Given the description of an element on the screen output the (x, y) to click on. 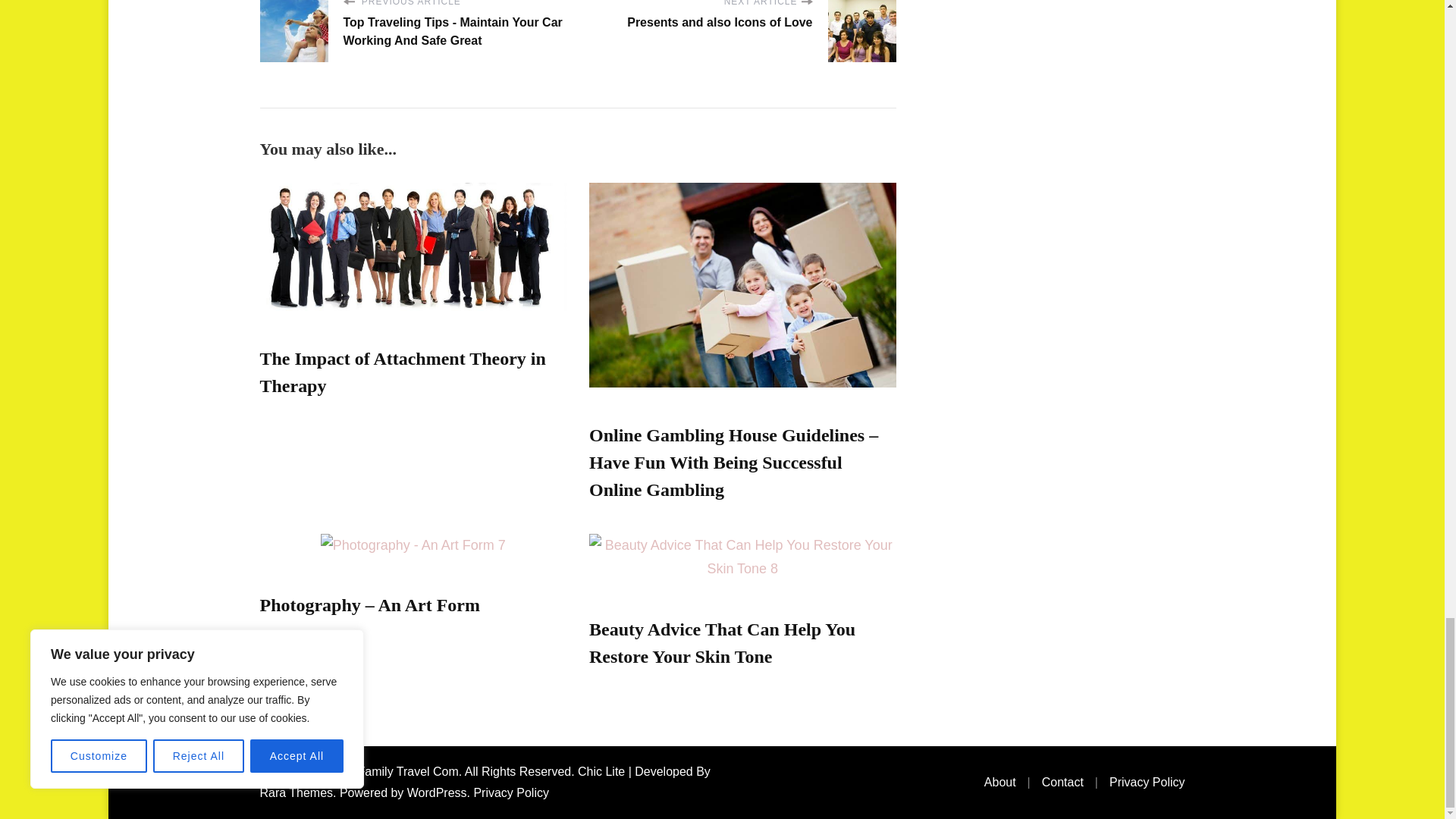
The Impact of Attachment Theory in Therapy (401, 371)
